Given the description of an element on the screen output the (x, y) to click on. 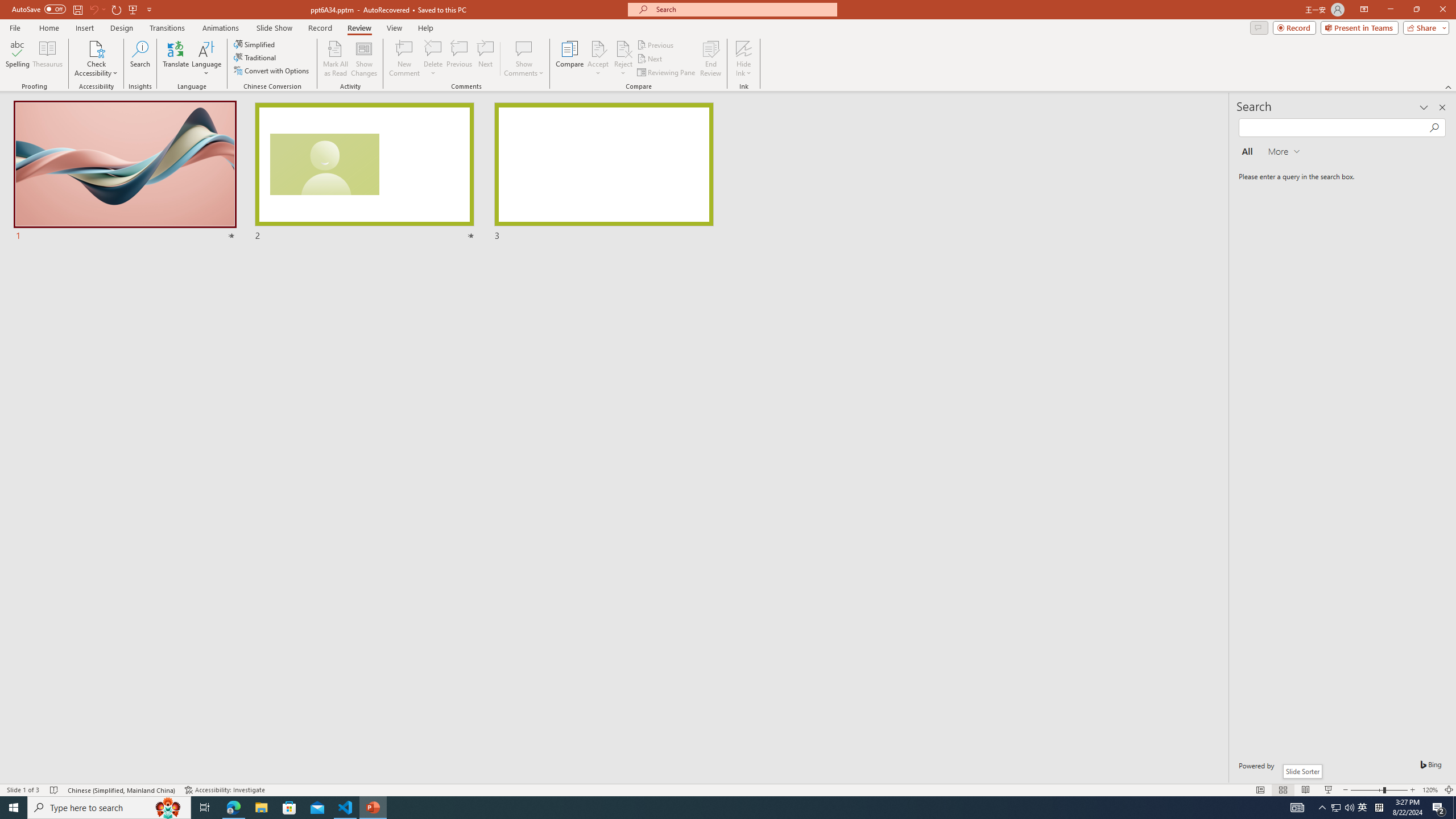
Customize Quick Access Toolbar (149, 9)
Accept (598, 58)
Reject (622, 58)
Check Accessibility (95, 48)
Insert (83, 28)
Reviewing Pane (666, 72)
Slide Sorter (1282, 790)
Slide (604, 171)
Design (122, 28)
Save (77, 9)
Zoom to Fit  (1449, 790)
